Given the description of an element on the screen output the (x, y) to click on. 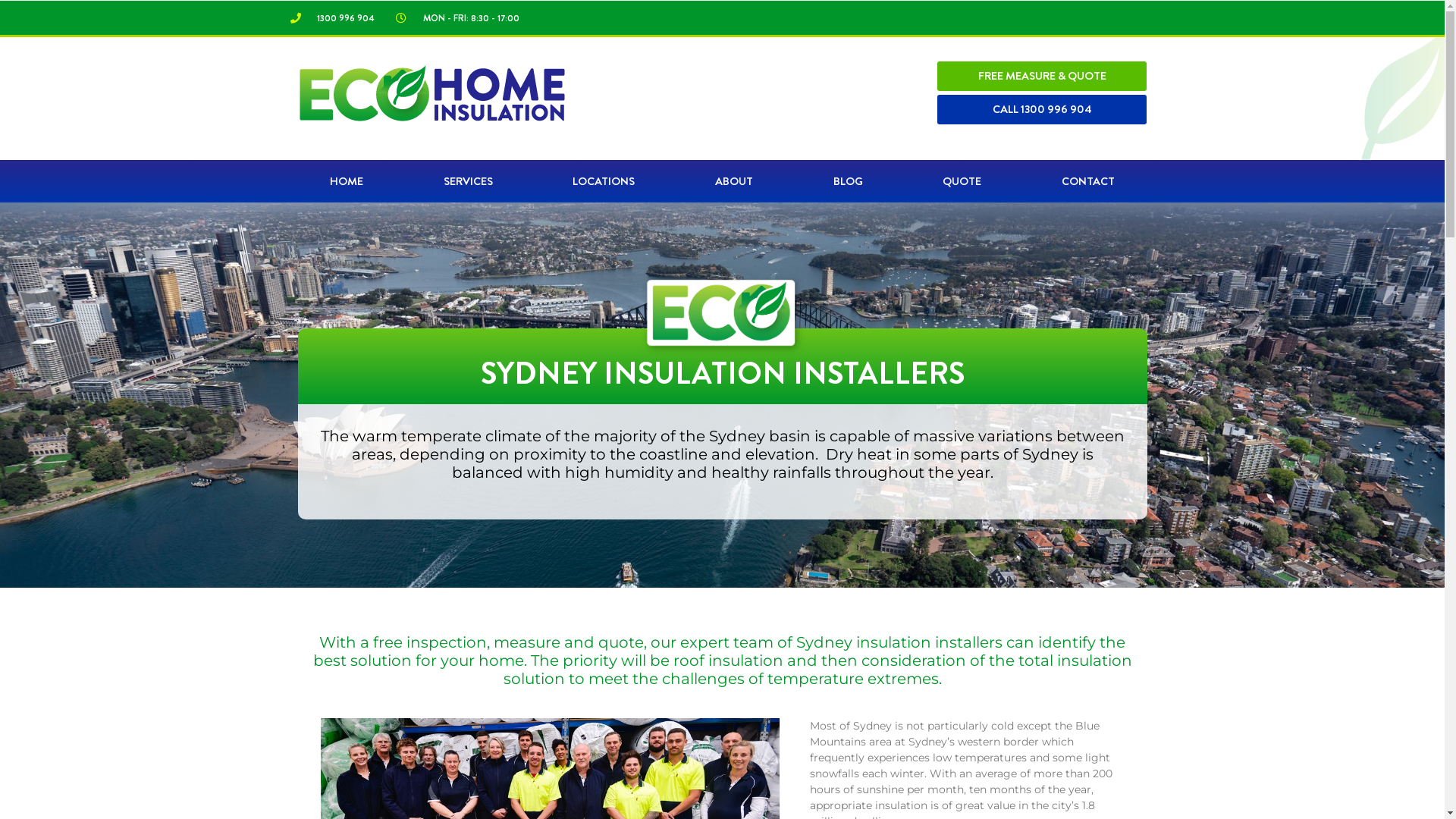
CALL 1300 996 904 Element type: text (1041, 109)
ABOUT Element type: text (733, 181)
1300 996 904 Element type: text (331, 17)
LOCATIONS Element type: text (604, 181)
HOME Element type: text (346, 181)
QUOTE Element type: text (961, 181)
BLOG Element type: text (848, 181)
SERVICES Element type: text (468, 181)
CONTACT Element type: text (1087, 181)
FREE MEASURE & QUOTE Element type: text (1041, 76)
